Given the description of an element on the screen output the (x, y) to click on. 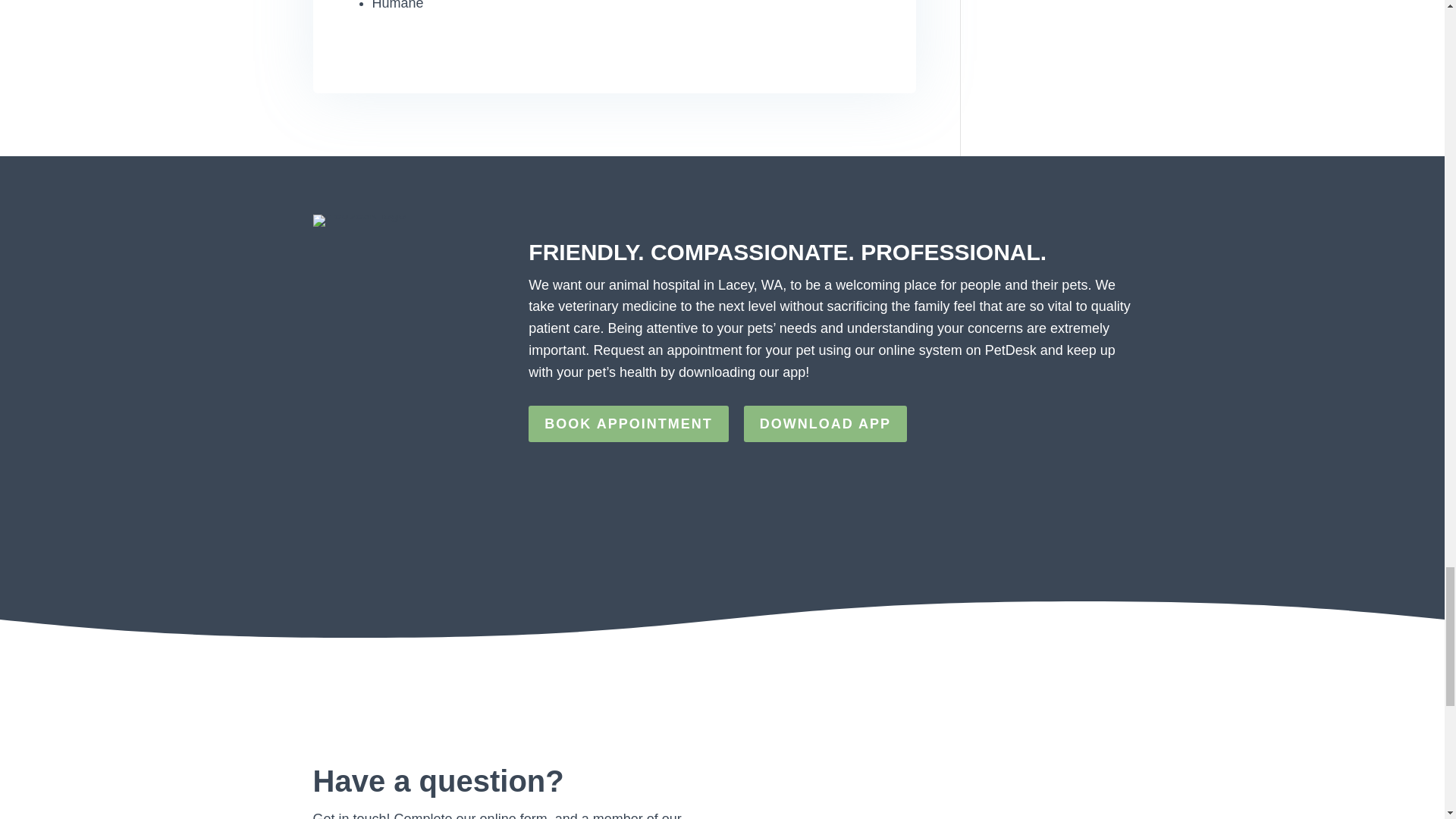
BOOK APPOINTMENT (628, 423)
DOWNLOAD APP (825, 423)
PetDesk-app-splash-logo (359, 220)
